Given the description of an element on the screen output the (x, y) to click on. 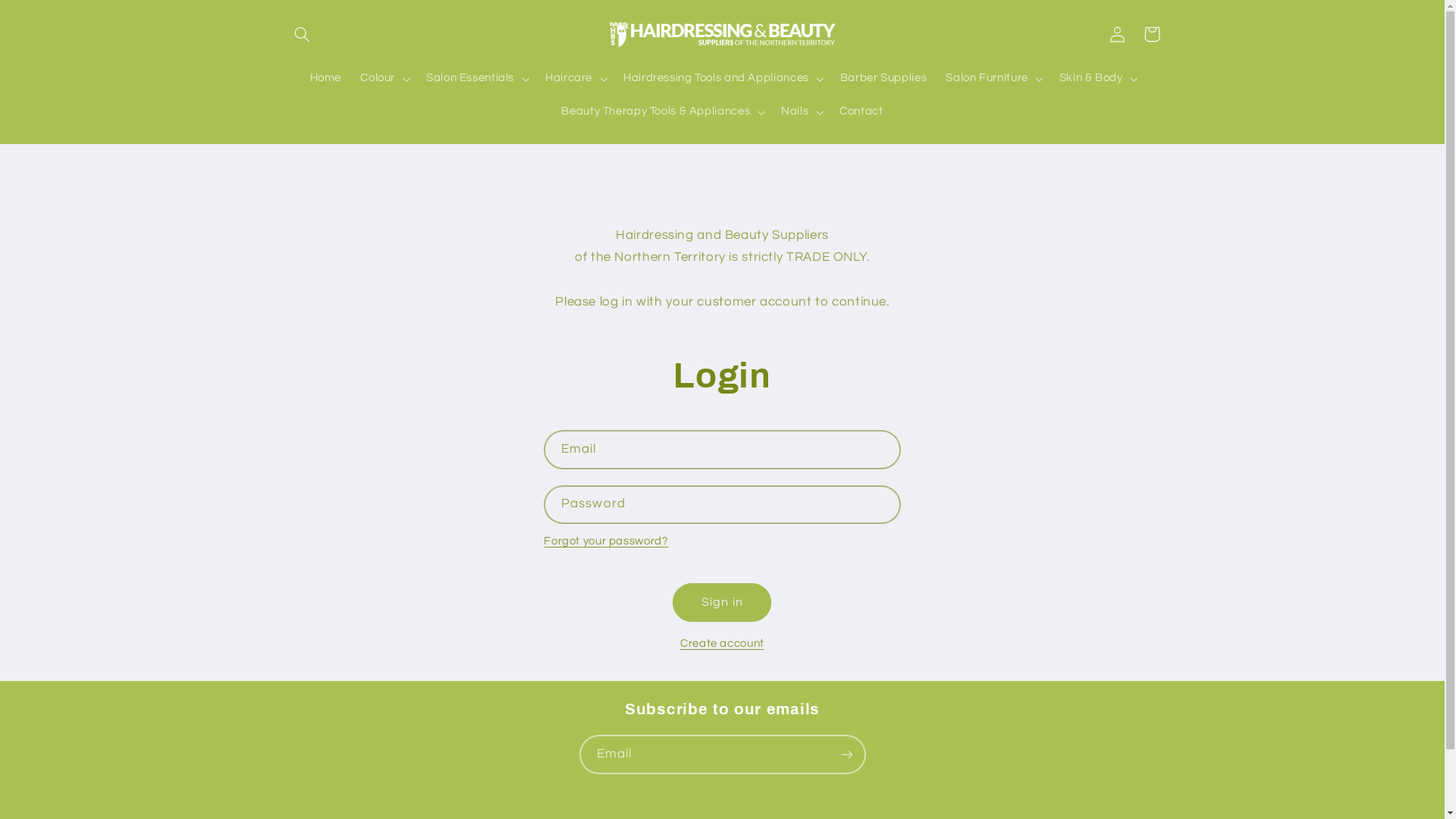
Home Element type: text (325, 78)
Forgot your password? Element type: text (605, 541)
Sign in Element type: text (721, 602)
Log in Element type: text (1116, 33)
Contact Element type: text (861, 111)
Cart Element type: text (1151, 33)
Create account Element type: text (722, 643)
Barber Supplies Element type: text (883, 78)
